Given the description of an element on the screen output the (x, y) to click on. 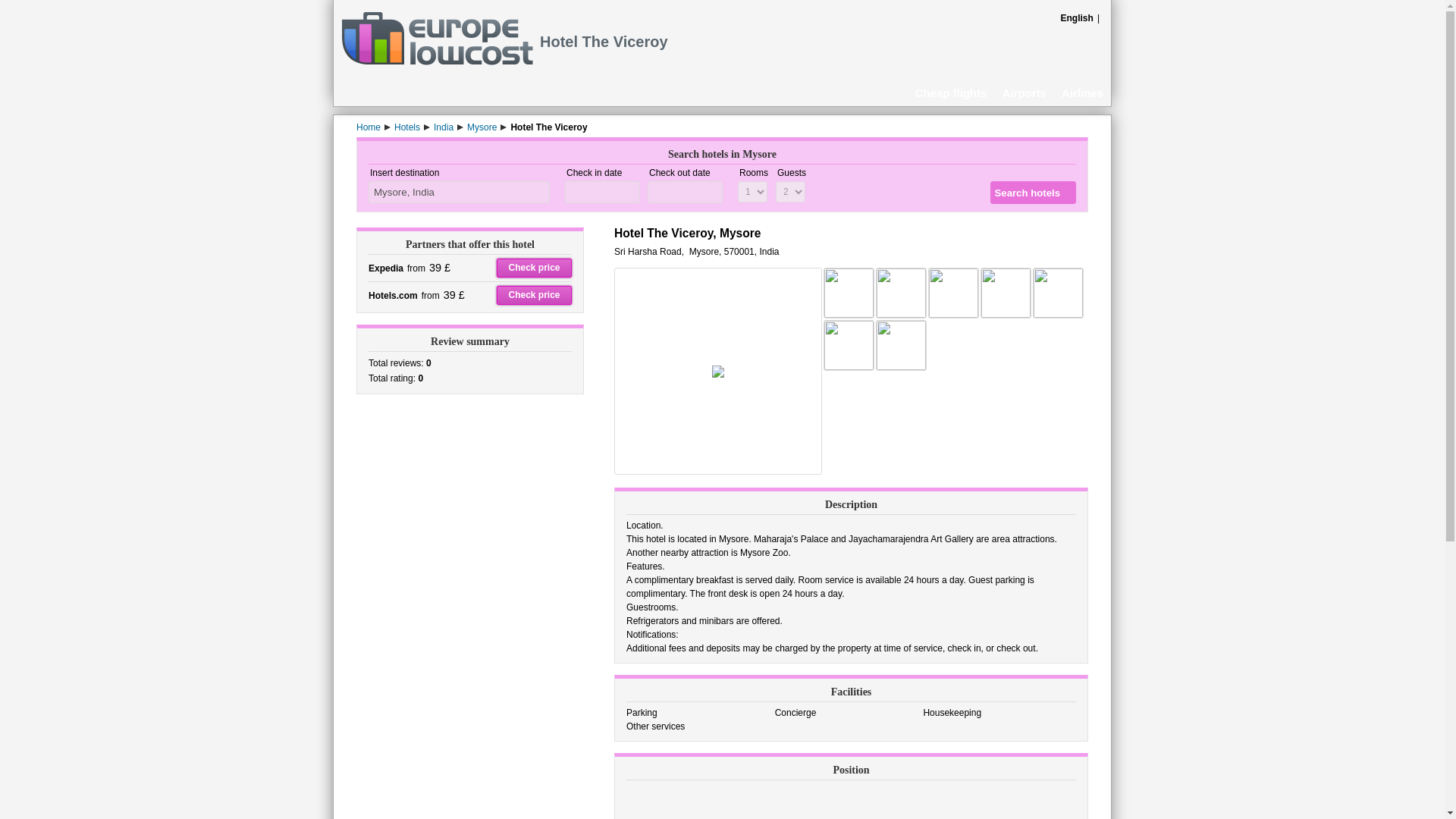
India (442, 127)
Mysore (481, 127)
Mysore, India (459, 191)
Check price (534, 267)
Hotels (407, 127)
Home (368, 127)
Europelowcost.co.uk (436, 61)
Search hotels (1033, 191)
Airports (1024, 91)
Check price (534, 294)
Airlines (1082, 91)
Airports (1024, 91)
Mysore (481, 127)
Cheap flights (950, 91)
Airlines (1082, 91)
